Given the description of an element on the screen output the (x, y) to click on. 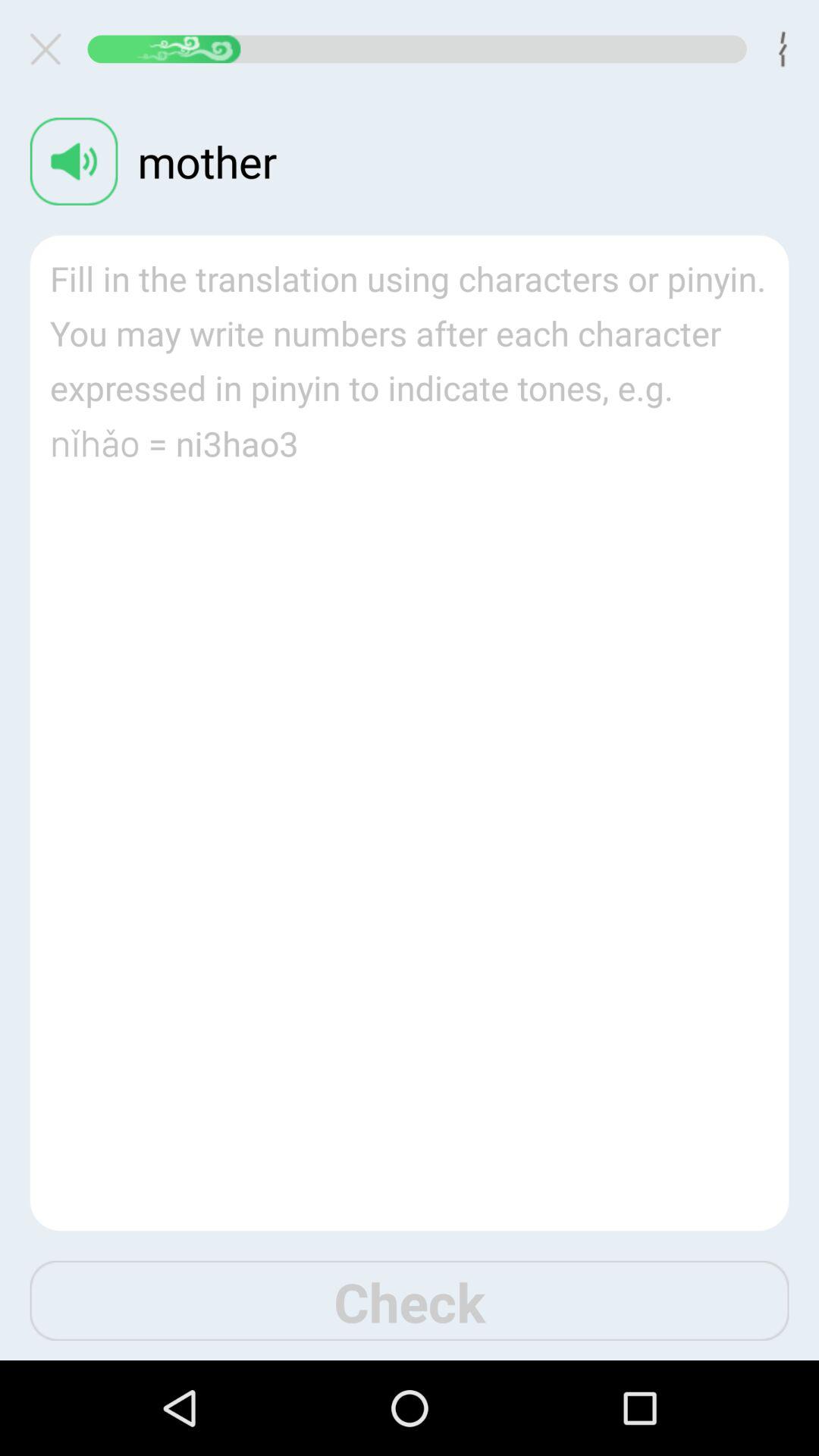
volume button (73, 161)
